Given the description of an element on the screen output the (x, y) to click on. 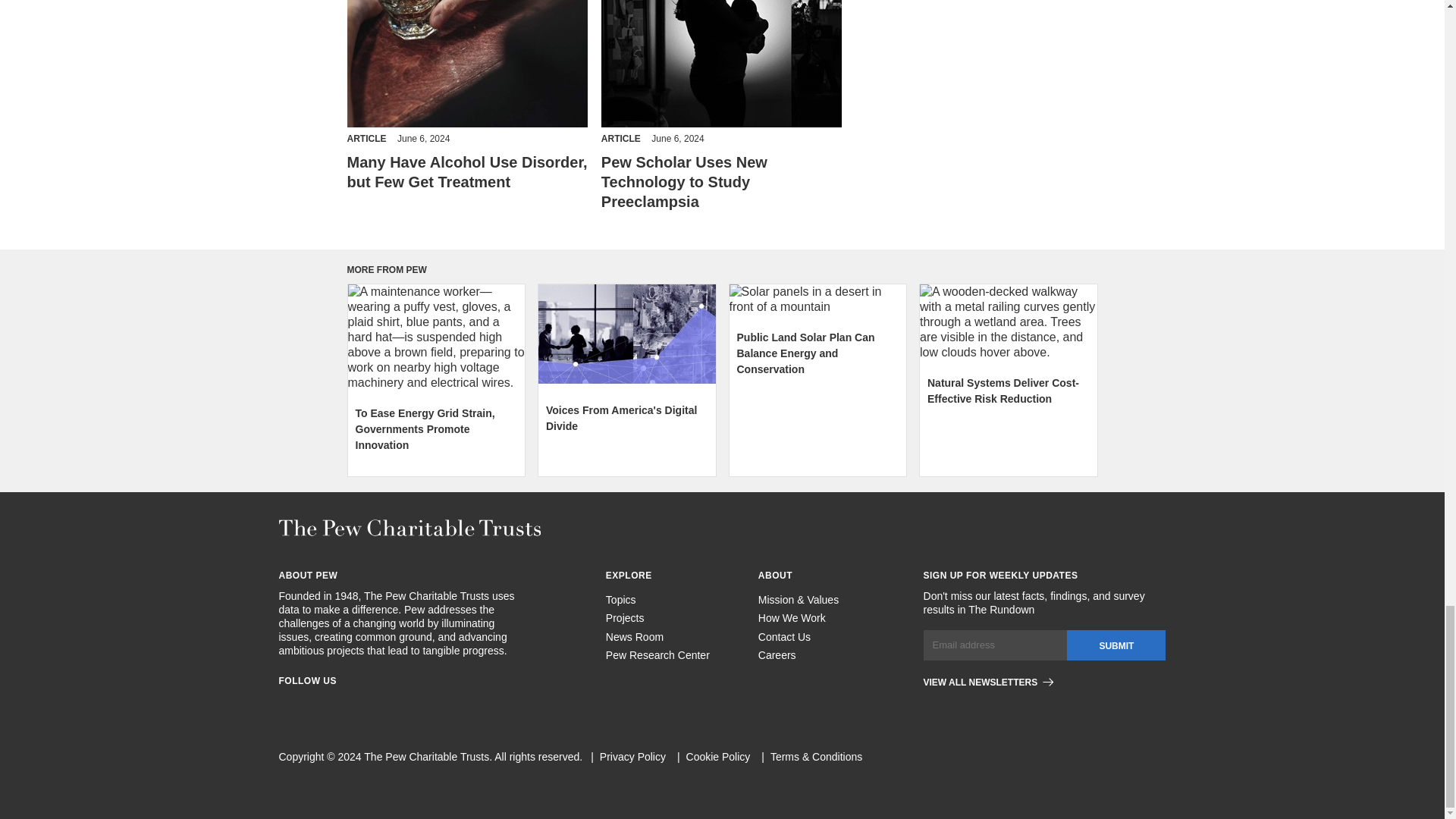
Facebook (285, 704)
Instagram (312, 704)
Solar panels in a desert in front of a mountain (818, 299)
